Given the description of an element on the screen output the (x, y) to click on. 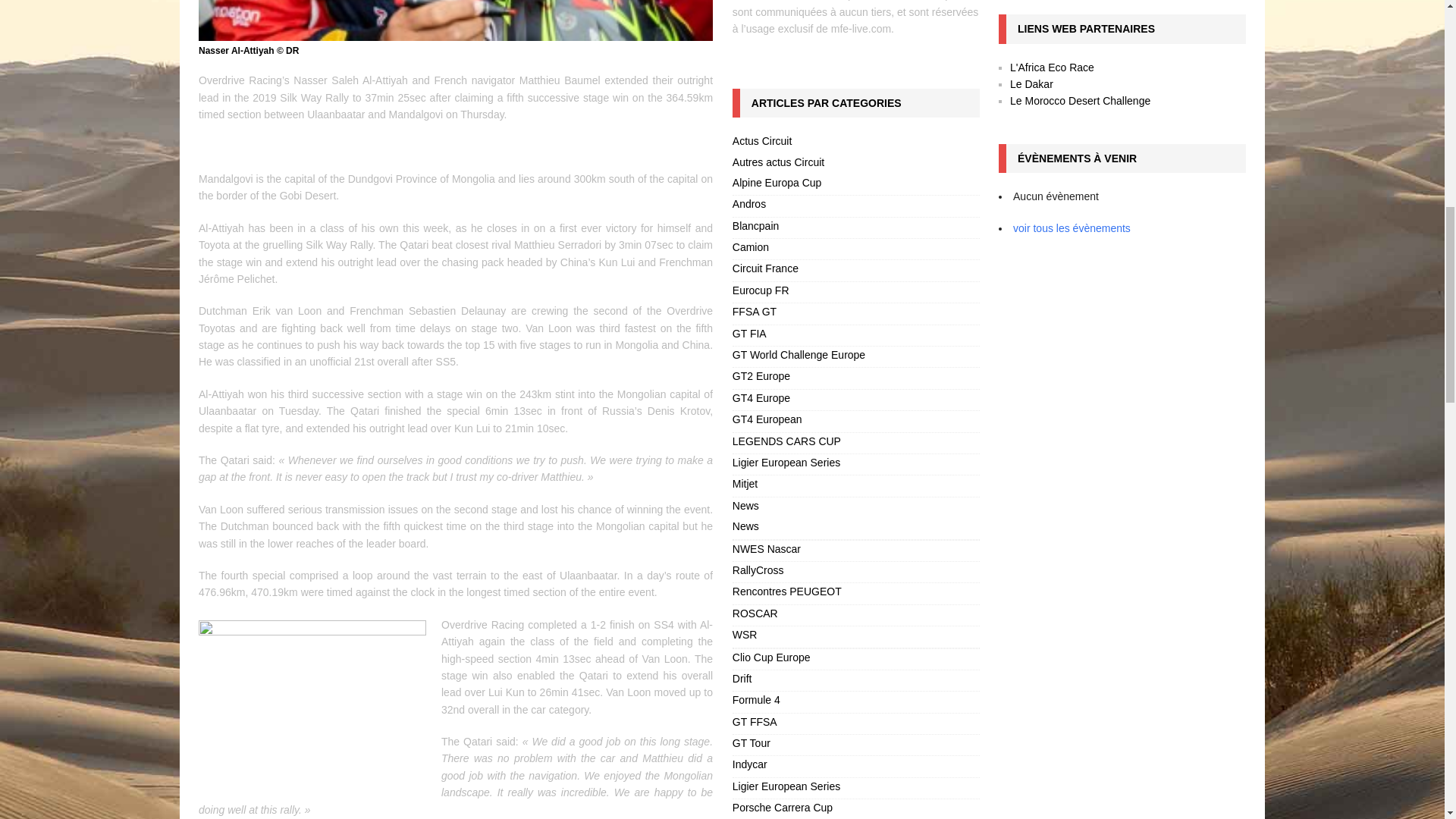
Actus Circuit (855, 142)
GT4 Europe (855, 399)
Blancpain (855, 227)
Autres actus Circuit (855, 163)
Camion (855, 249)
AL-ATTIYAH-DEDICACE- (455, 20)
Andros (855, 205)
GT FIA (855, 335)
GT4 European (855, 421)
FFSA GT (855, 313)
Alpine Europa Cup (855, 184)
GT2 Europe (855, 377)
GT World Challenge Europe (855, 356)
Circuit France (855, 270)
Eurocup FR (855, 291)
